Given the description of an element on the screen output the (x, y) to click on. 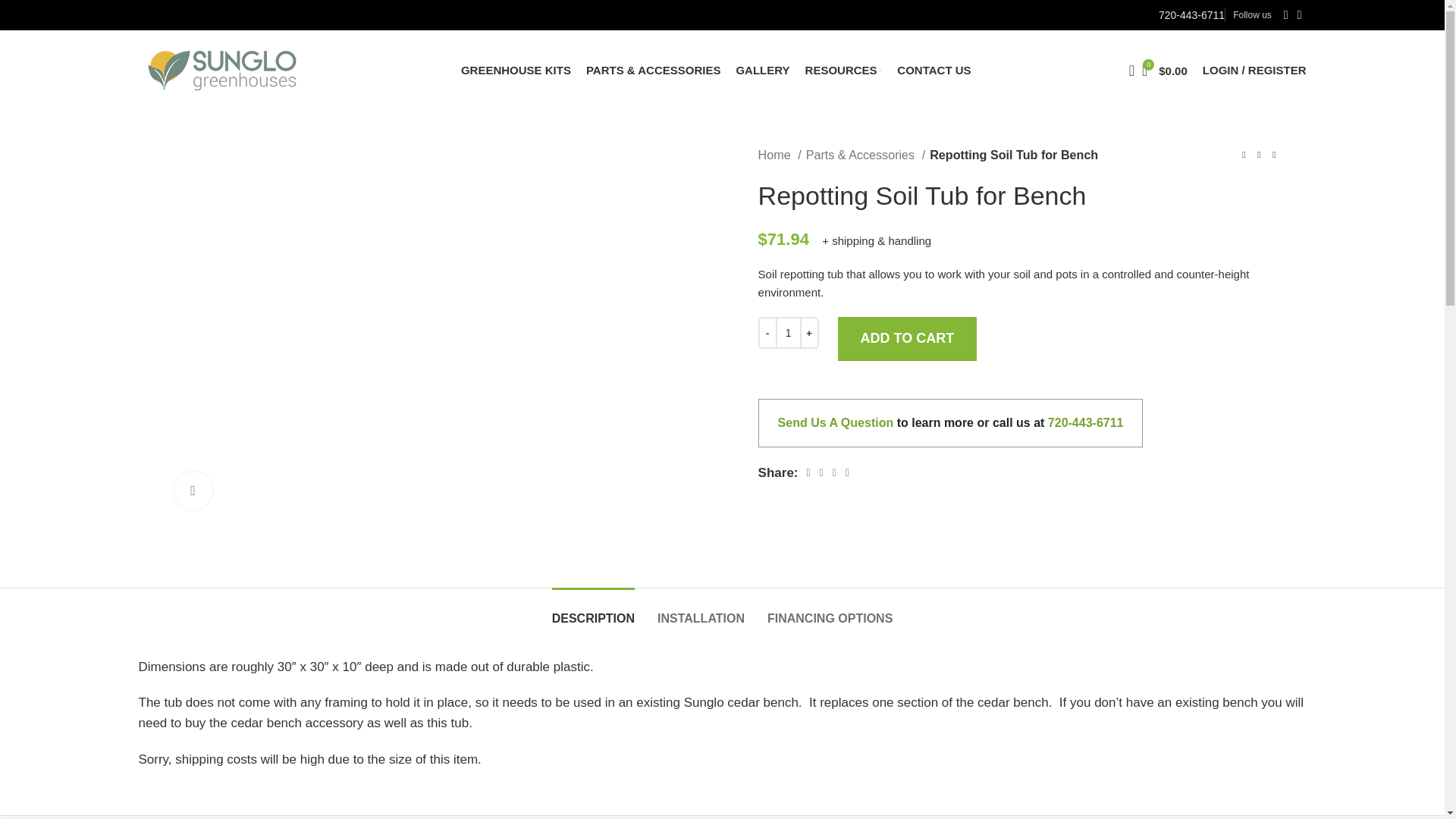
Home (780, 155)
Shopping cart (1164, 69)
DESCRIPTION (592, 610)
Send Us A Question (835, 422)
RESOURCES (843, 69)
CONTACT US (933, 69)
720-443-6711 (1191, 15)
GREENHOUSE KITS (515, 69)
720-443-6711 (1086, 422)
My account (1254, 69)
